Given the description of an element on the screen output the (x, y) to click on. 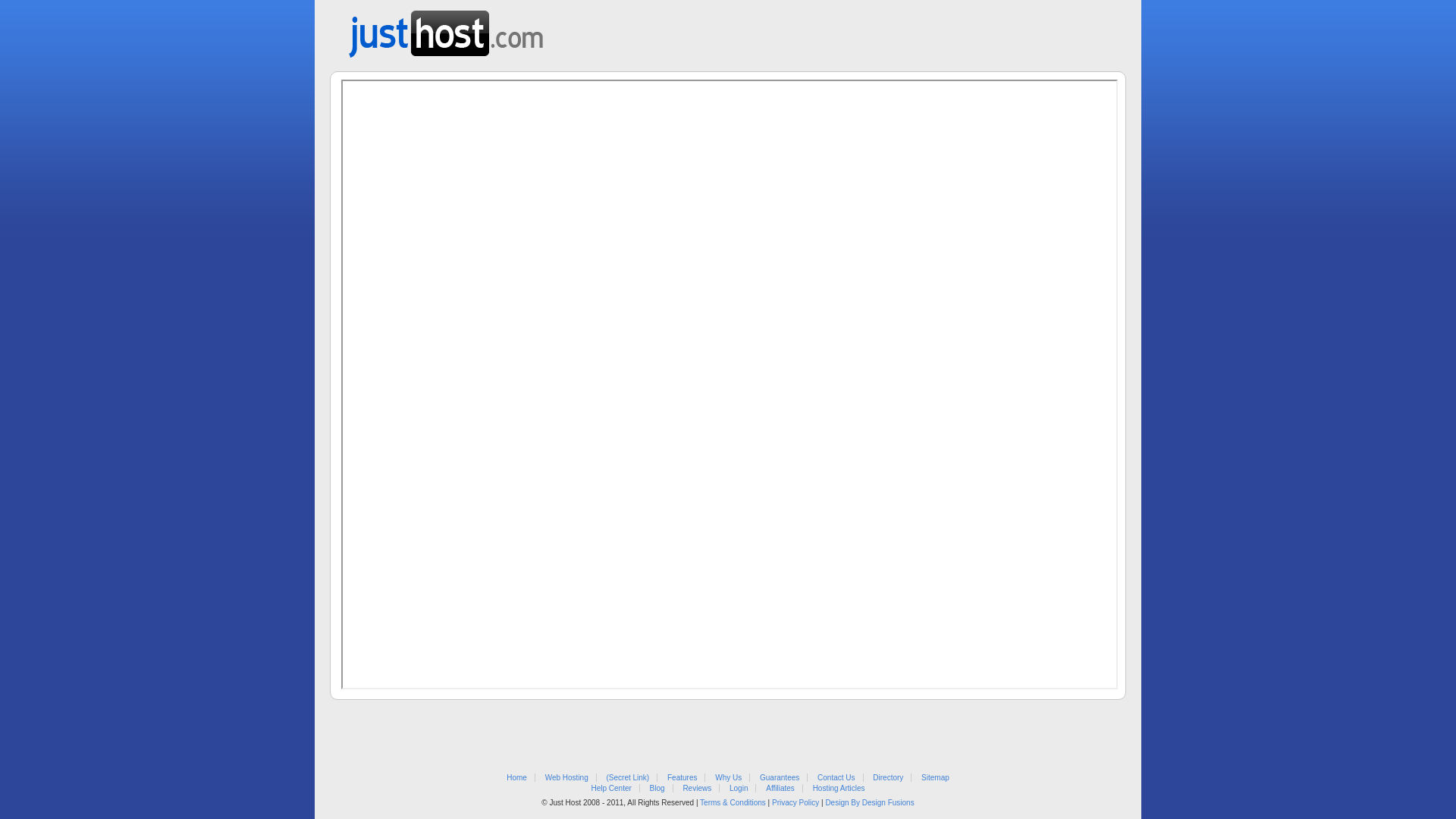
Design By Design Fusions Element type: text (869, 802)
Terms & Conditions Element type: text (732, 802)
Blog Element type: text (657, 788)
Web Hosting from Just Host Element type: text (445, 28)
Home Element type: text (516, 777)
Login Element type: text (738, 788)
Features Element type: text (681, 777)
Web Hosting Element type: text (566, 777)
Privacy Policy Element type: text (795, 802)
Why Us Element type: text (728, 777)
Affiliates Element type: text (779, 788)
Sitemap Element type: text (935, 777)
Directory Element type: text (887, 777)
Contact Us Element type: text (835, 777)
Help Center Element type: text (610, 788)
Hosting Articles Element type: text (838, 788)
(Secret Link) Element type: text (627, 777)
Reviews Element type: text (696, 788)
Guarantees Element type: text (779, 777)
